Given the description of an element on the screen output the (x, y) to click on. 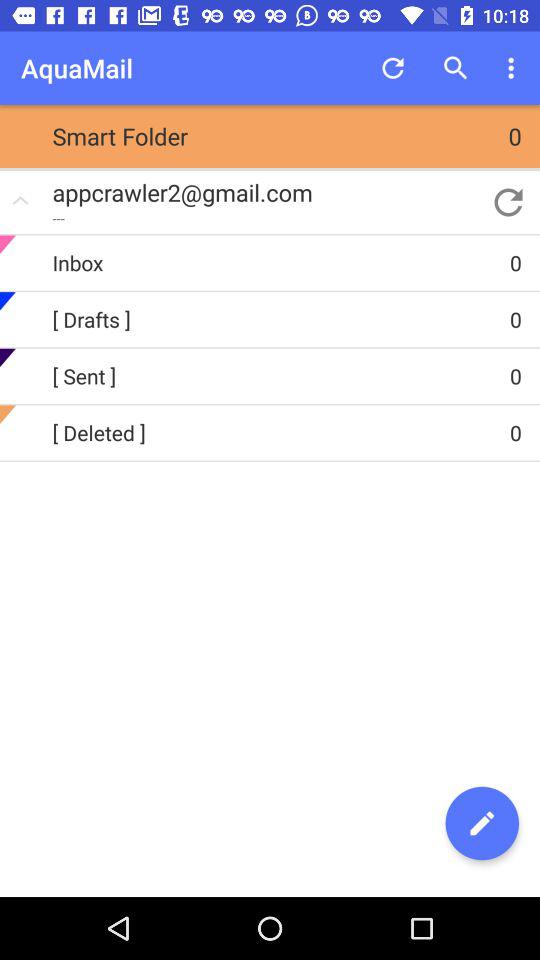
choose app next to appcrawler2@gmail.com app (508, 202)
